Given the description of an element on the screen output the (x, y) to click on. 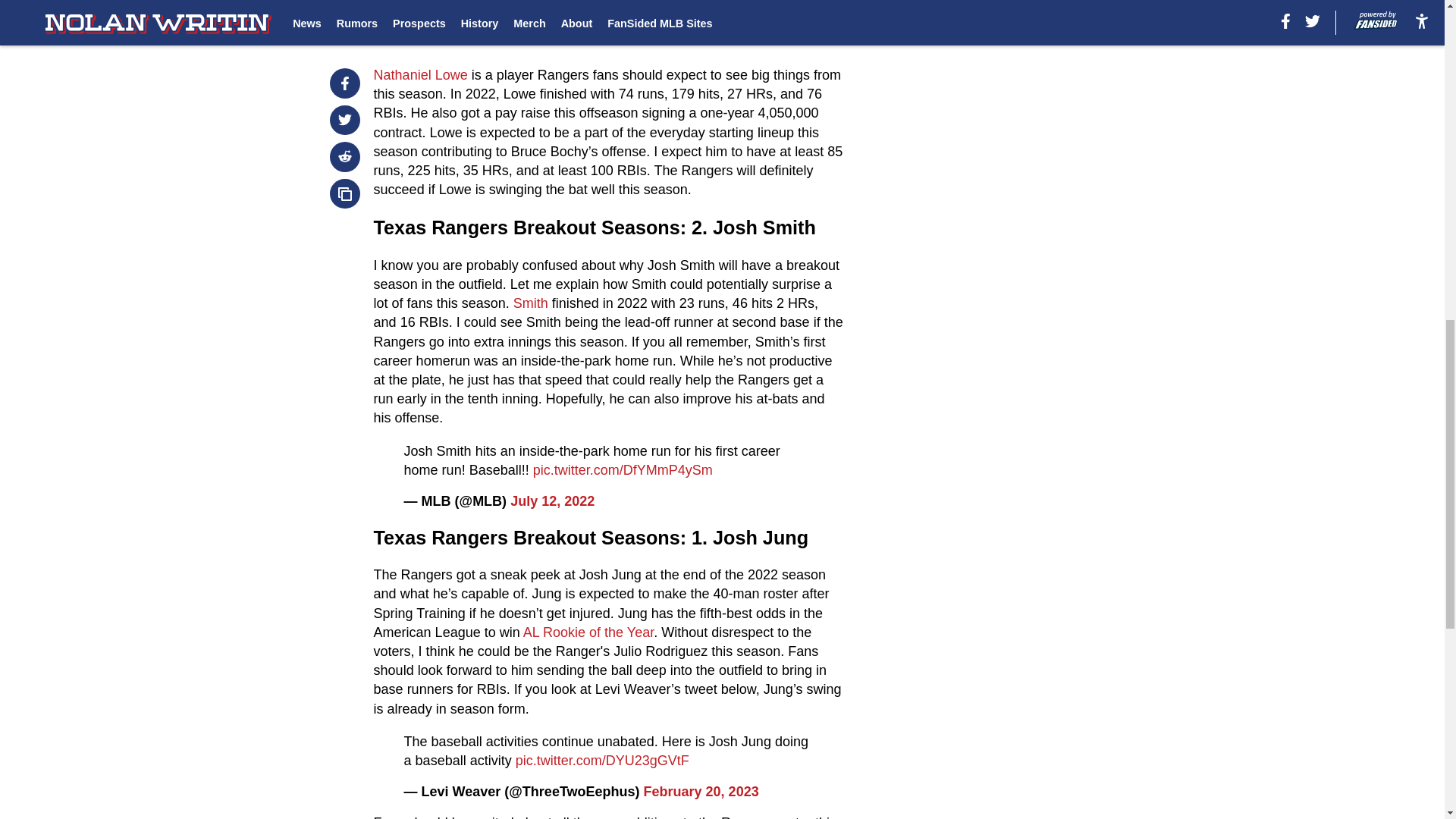
Nathaniel Lowe (422, 74)
Smith (530, 303)
February 20, 2023 (700, 791)
July 12, 2022 (552, 500)
AL Rookie of the Year (587, 631)
